Given the description of an element on the screen output the (x, y) to click on. 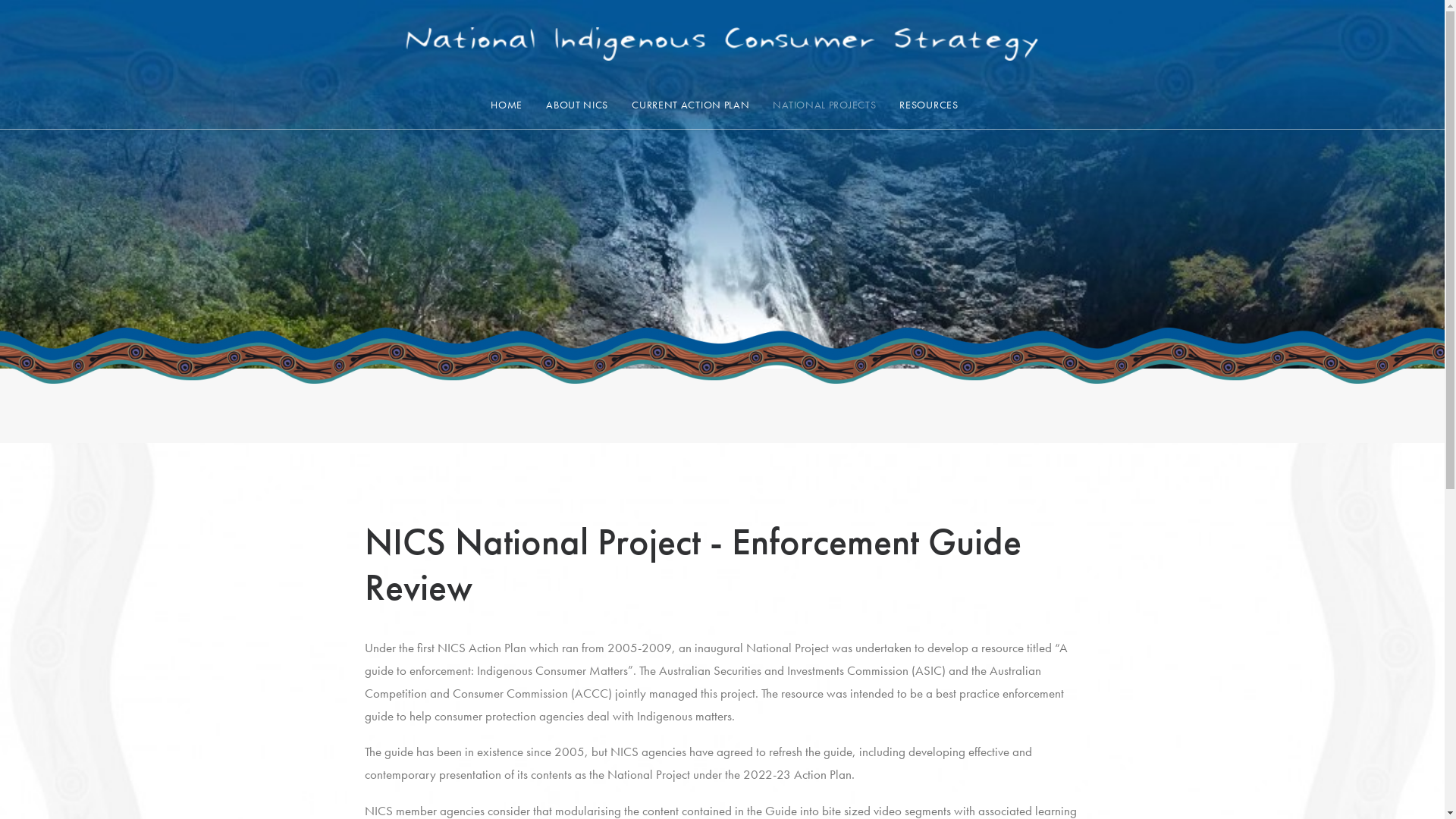
NATIONAL PROJECTS Element type: text (824, 101)
HOME Element type: text (506, 101)
ABOUT NICS Element type: text (576, 101)
RESOURCES Element type: text (928, 101)
CURRENT ACTION PLAN Element type: text (690, 101)
